Given the description of an element on the screen output the (x, y) to click on. 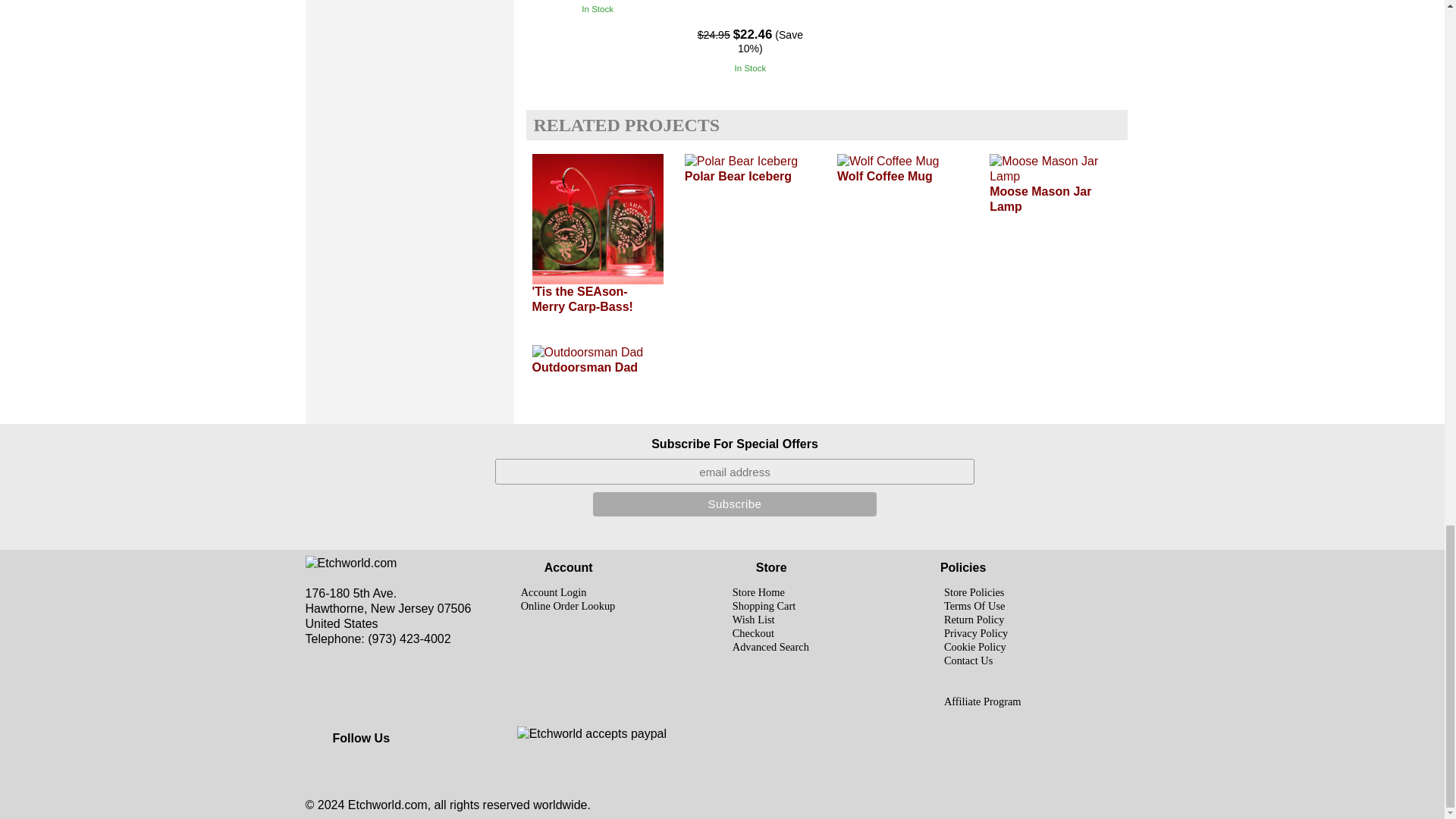
Subscribe (734, 504)
